Given the description of an element on the screen output the (x, y) to click on. 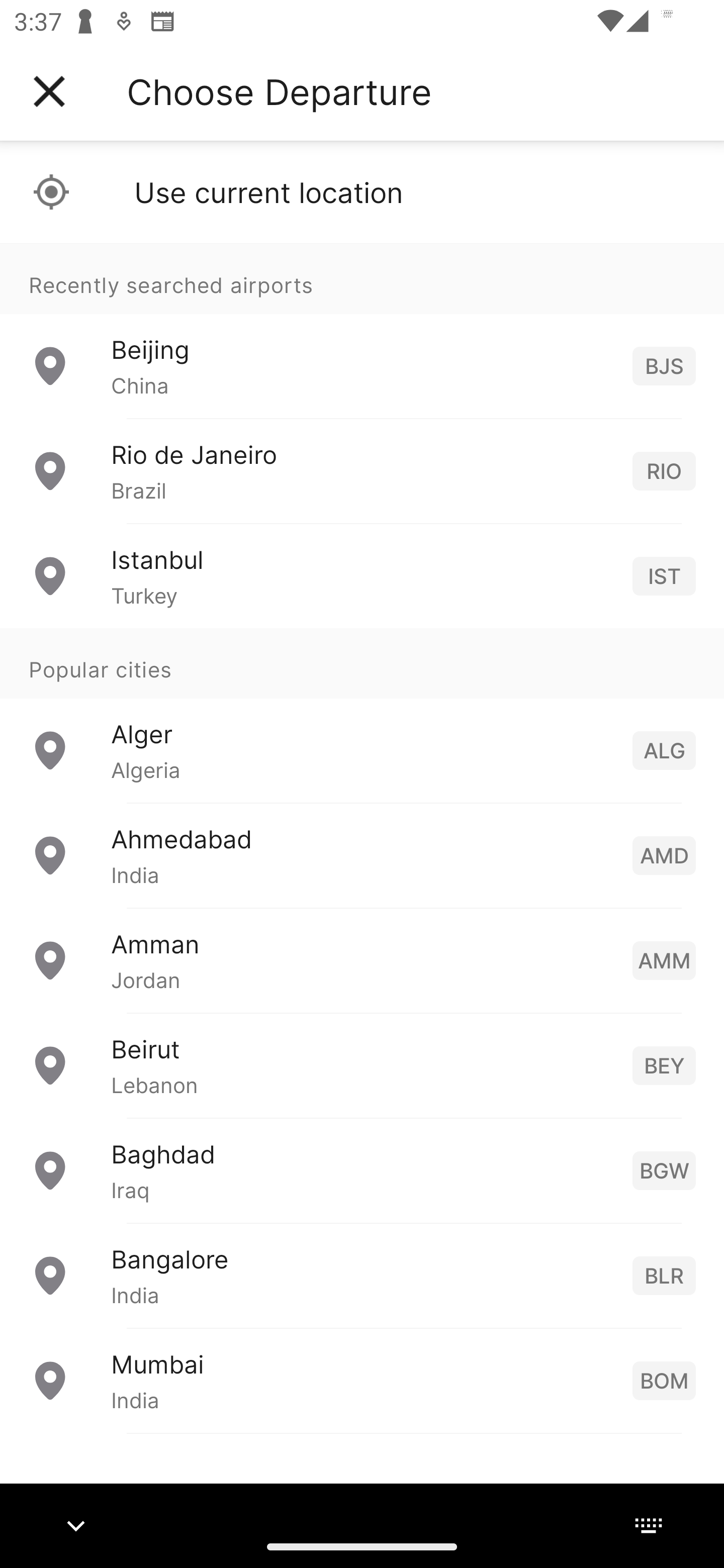
Choose Departure (279, 91)
Use current location (362, 192)
Recently searched airports Beijing China BJS (362, 330)
Recently searched airports (362, 278)
Rio de Janeiro Brazil RIO (362, 470)
Istanbul Turkey IST (362, 575)
Popular cities Alger Algeria ALG (362, 715)
Popular cities (362, 663)
Ahmedabad India AMD (362, 854)
Amman Jordan AMM (362, 959)
Beirut Lebanon BEY (362, 1064)
Baghdad Iraq BGW (362, 1170)
Bangalore India BLR (362, 1275)
Mumbai India BOM (362, 1380)
